Given the description of an element on the screen output the (x, y) to click on. 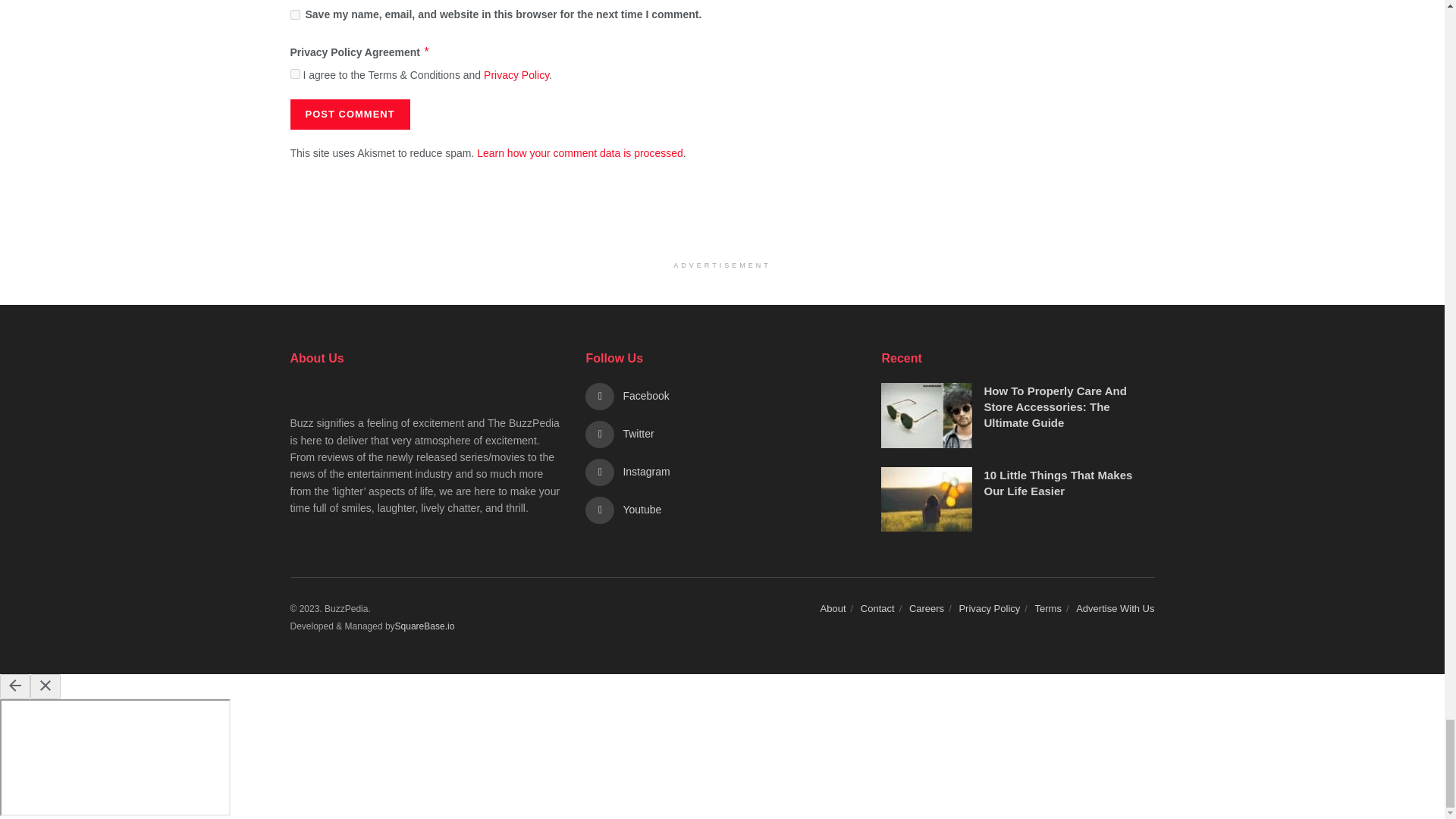
Post Comment (349, 114)
on (294, 73)
yes (294, 14)
